Given the description of an element on the screen output the (x, y) to click on. 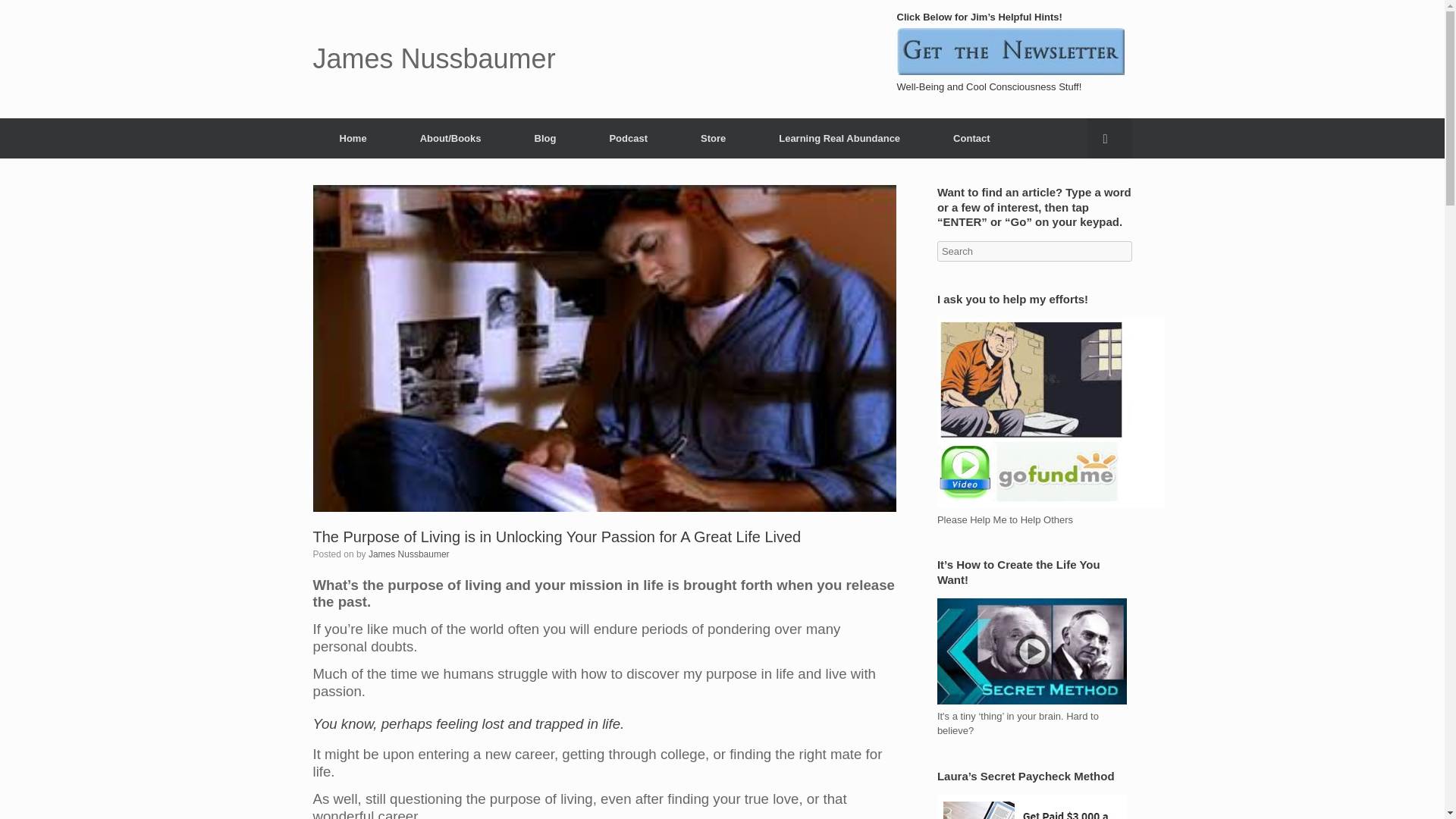
Learning Real Abundance (839, 137)
James Nussbaumer (433, 59)
View all posts by James Nussbaumer (408, 553)
Home (353, 137)
Podcast (628, 137)
Blog (545, 137)
James Nussbaumer (408, 553)
Contact (971, 137)
Store (713, 137)
James Nussbaumer (433, 59)
Click Below for Jim's Helpful Hints! (1010, 51)
It's How to Create the Life You Want! (1031, 651)
